Given the description of an element on the screen output the (x, y) to click on. 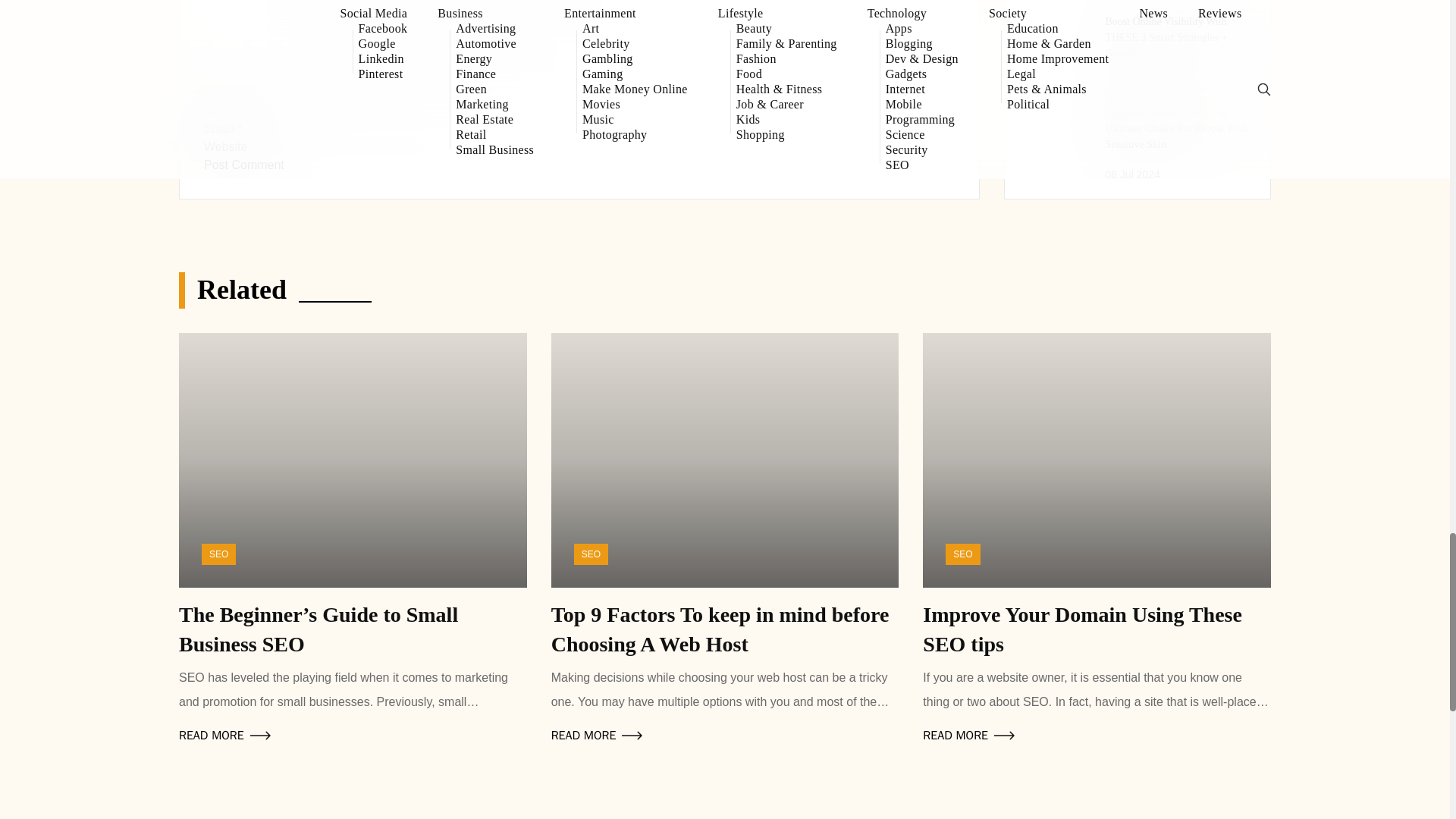
Post Comment (243, 165)
